Given the description of an element on the screen output the (x, y) to click on. 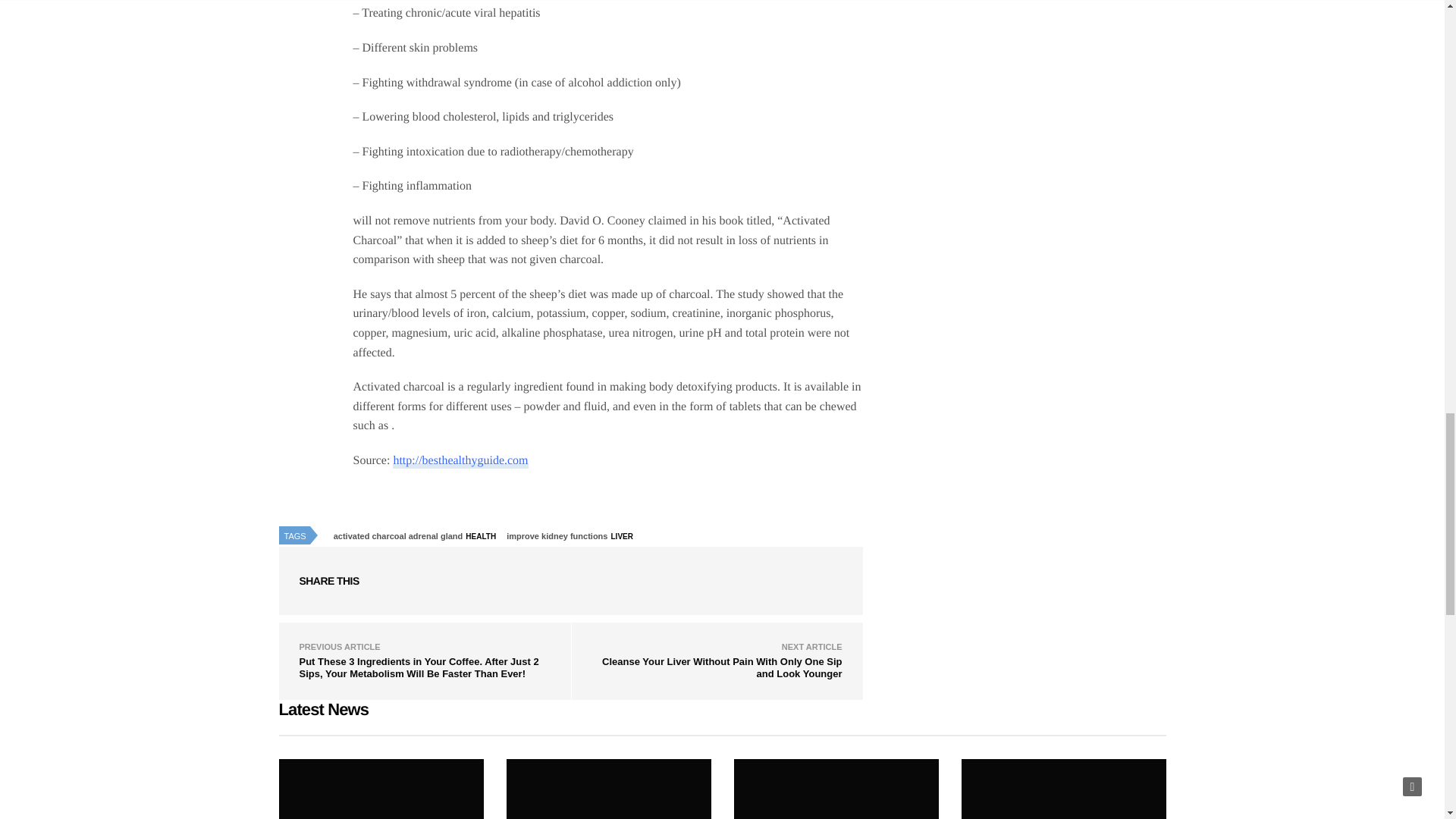
15 Foods You Can Eat a Lot of and Still Not Gain Weight (608, 789)
HEALTH (483, 536)
LIVER (625, 536)
This Is Going to Happen If You Spray Your Bed with Alcohol! (381, 789)
